Given the description of an element on the screen output the (x, y) to click on. 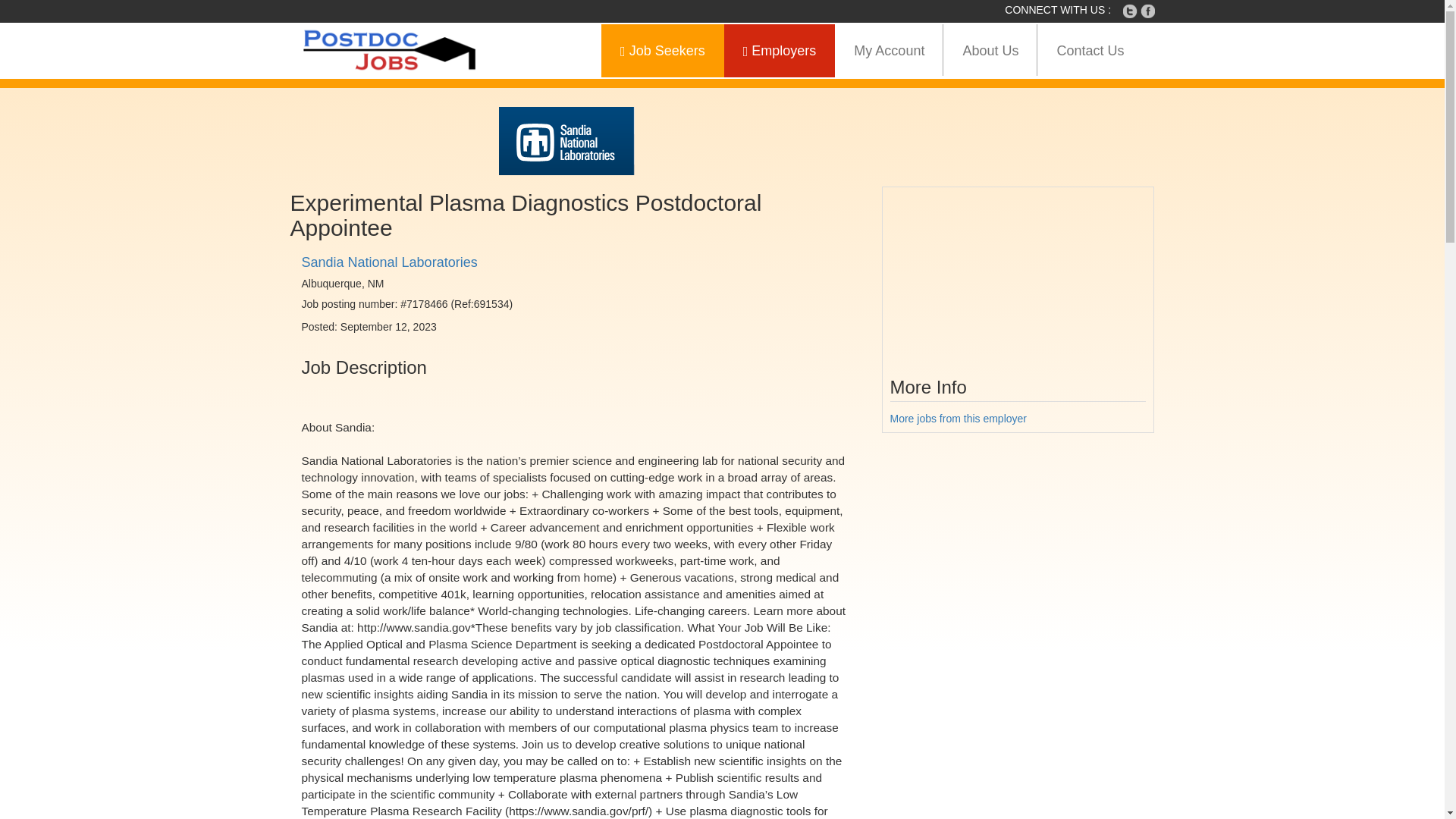
My Account (888, 50)
Contact Us (1089, 50)
About Us (989, 50)
Employers (779, 50)
Job Seekers (662, 50)
More jobs from this employer (958, 418)
Sandia National Laboratories (389, 262)
